Given the description of an element on the screen output the (x, y) to click on. 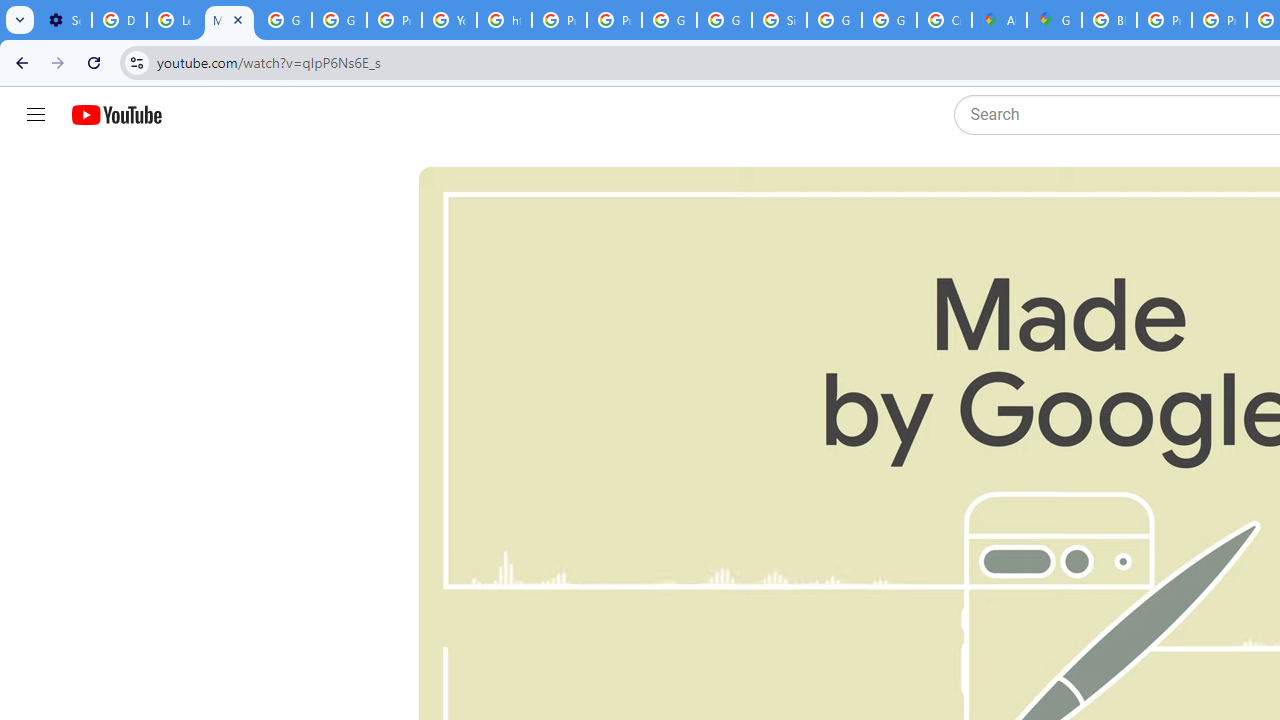
Blogger Policies and Guidelines - Transparency Center (1108, 20)
YouTube (449, 20)
Settings - Customize profile (64, 20)
Sign in - Google Accounts (779, 20)
YouTube Home (116, 115)
